Given the description of an element on the screen output the (x, y) to click on. 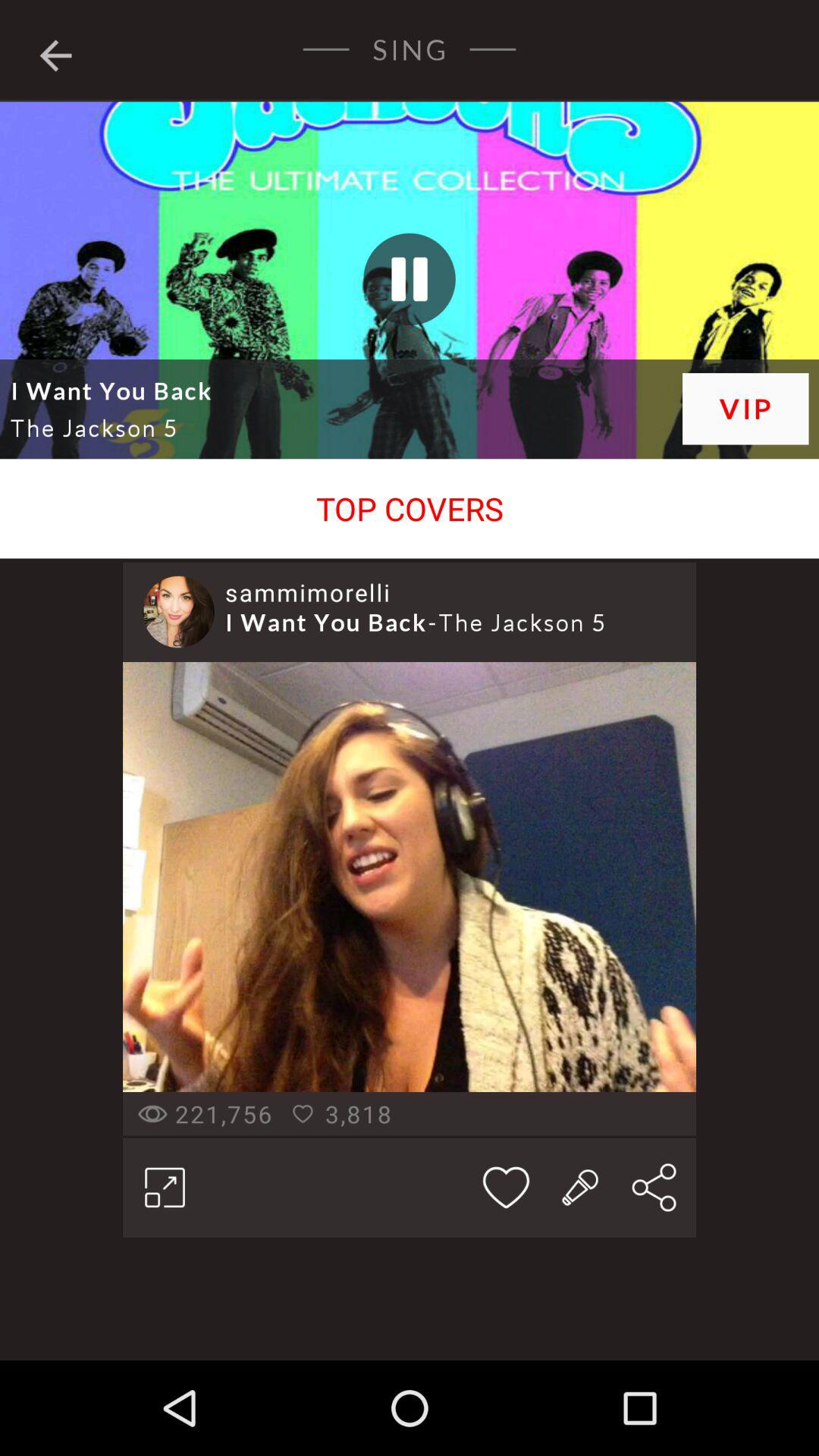
press the icon below 221,756 item (164, 1187)
